Given the description of an element on the screen output the (x, y) to click on. 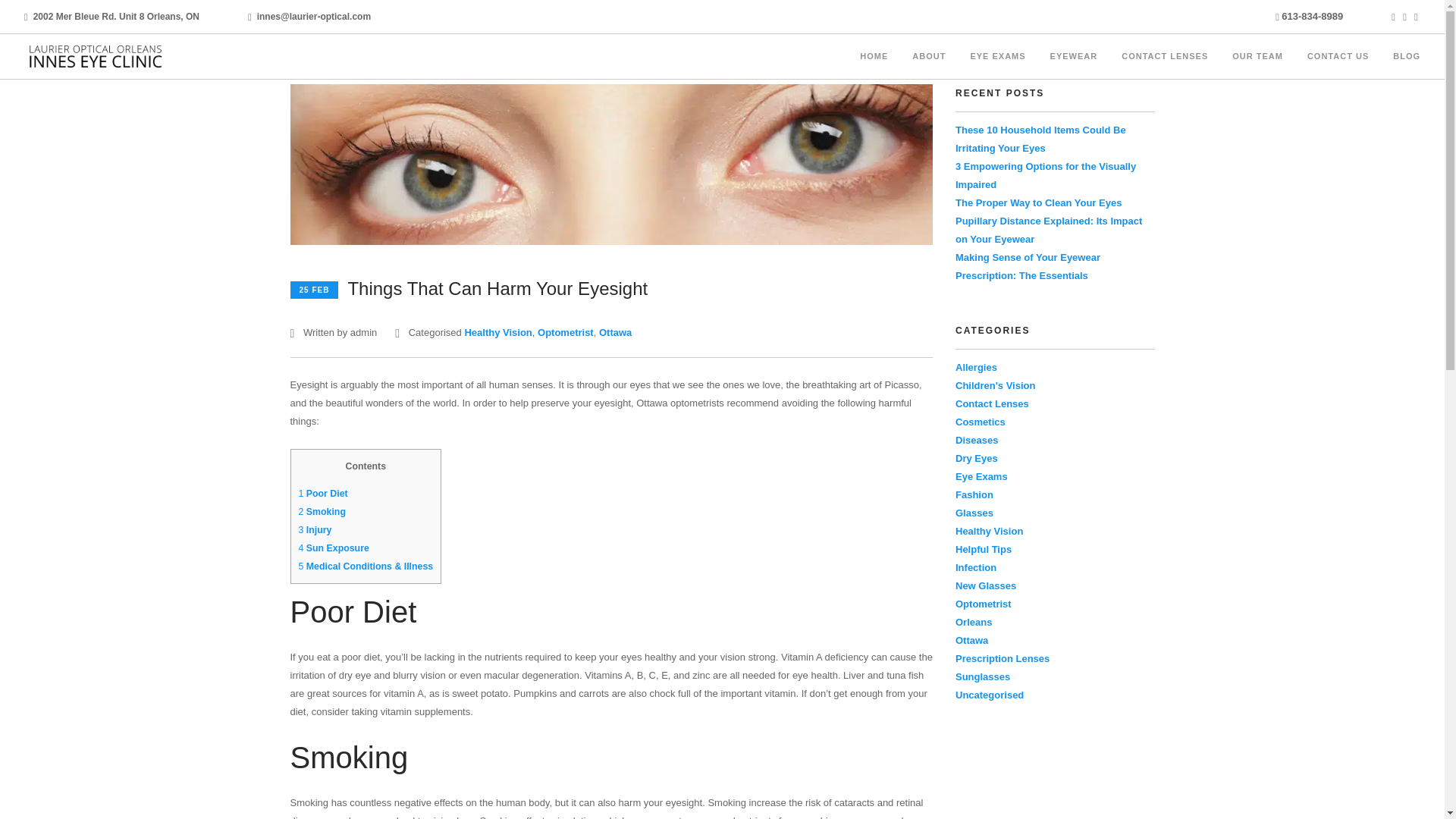
Ottawa (614, 332)
4 Sun Exposure (333, 547)
Pupillary Distance Explained: Its Impact on Your Eyewear (1048, 229)
Children's Vision (995, 385)
Making Sense of Your Eyewear Prescription: The Essentials (1027, 266)
613-834-8989 (1311, 16)
Healthy Vision (497, 332)
2002 Mer Bleue Rd. Unit 8 Orleans, ON (116, 16)
Fashion (973, 494)
CONTACT LENSES (1164, 56)
CONTACT US (1337, 56)
EYEWEAR (1073, 56)
Contact Lenses (992, 403)
OUR TEAM (1256, 56)
1 Poor Diet (322, 493)
